Given the description of an element on the screen output the (x, y) to click on. 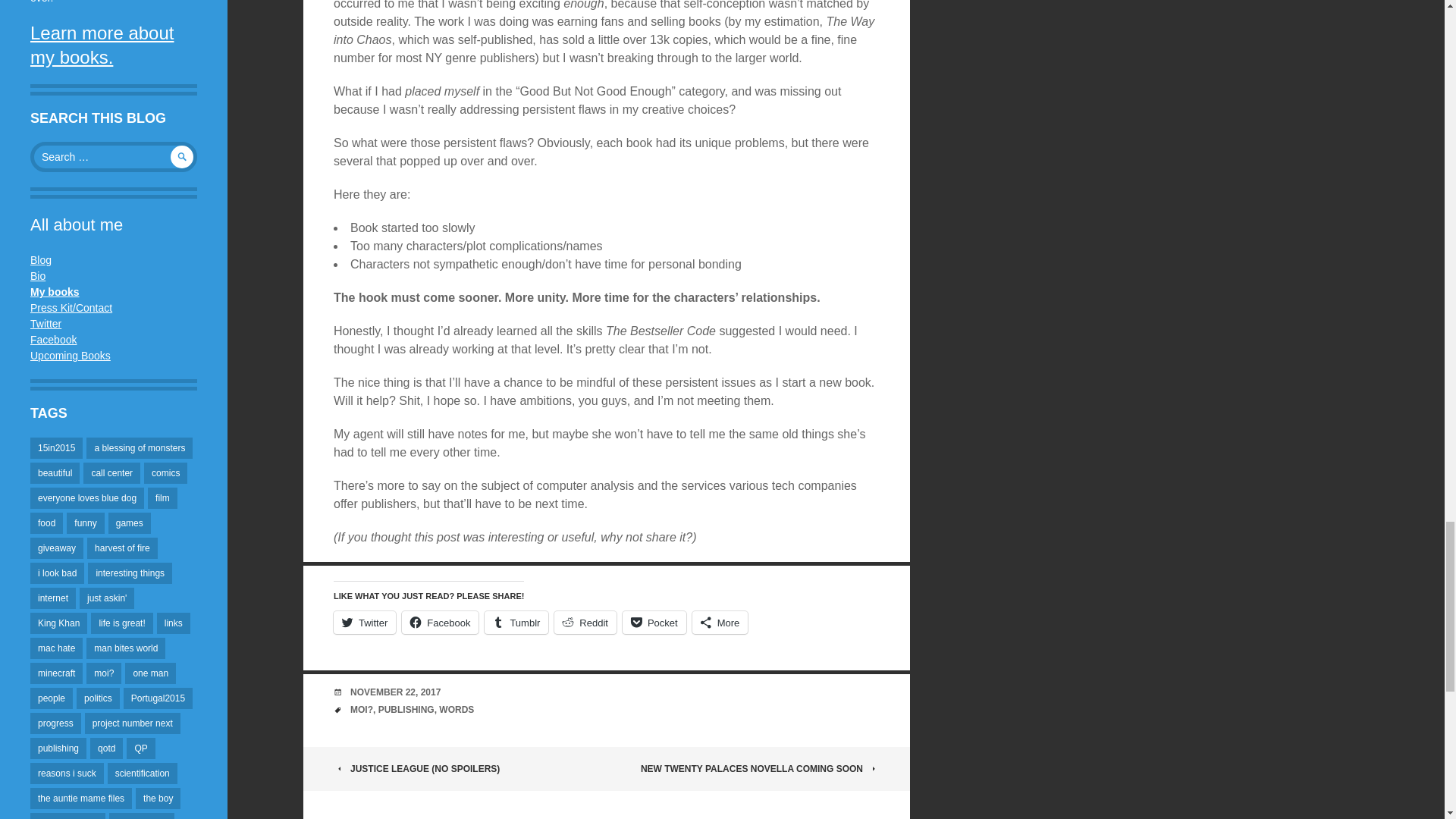
Search for: (113, 156)
Click to share on Twitter (364, 621)
Press Kit (71, 307)
Home page (55, 291)
Of a sort (37, 275)
